Given the description of an element on the screen output the (x, y) to click on. 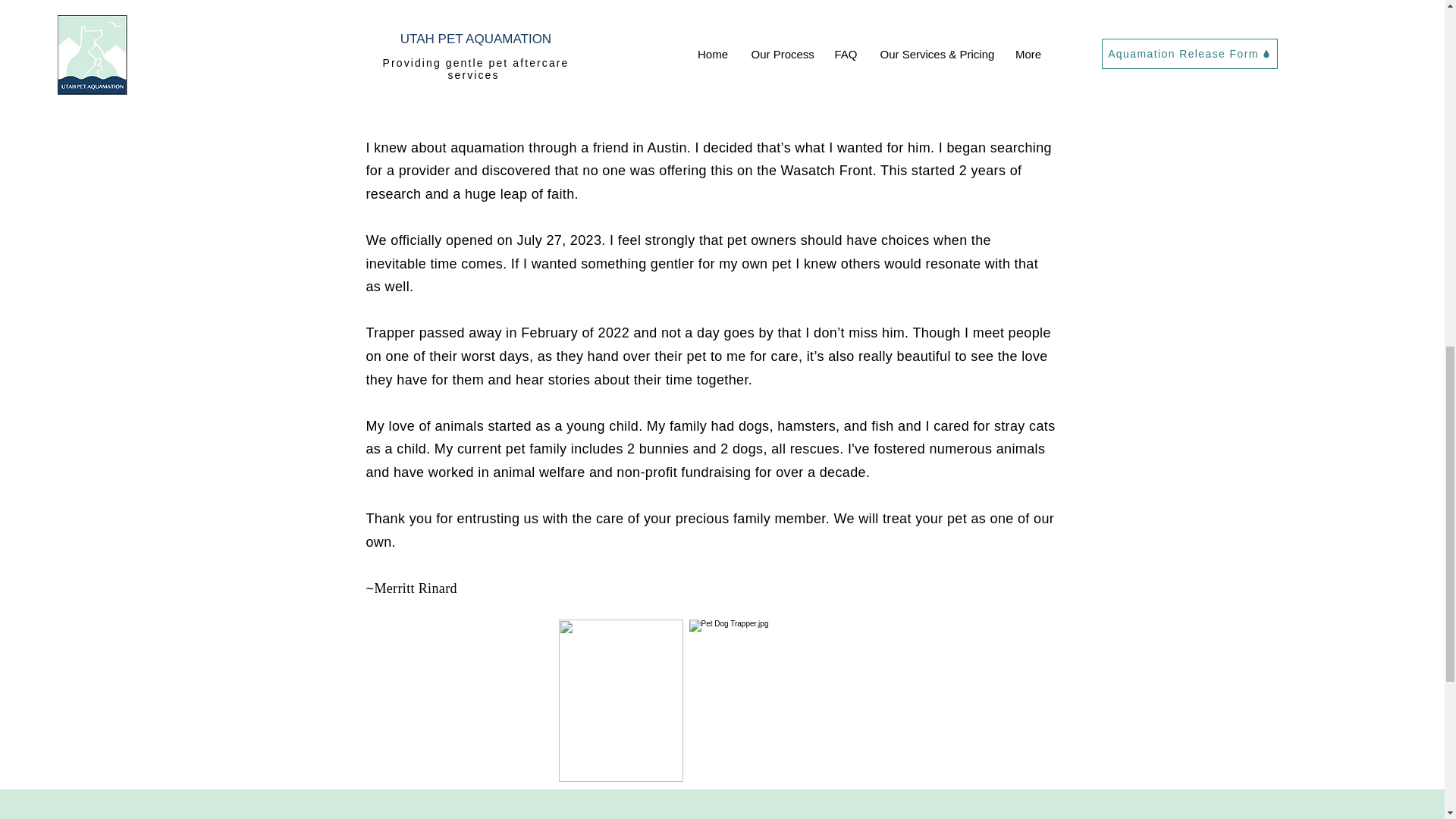
Merritt headshot.png (619, 700)
